Given the description of an element on the screen output the (x, y) to click on. 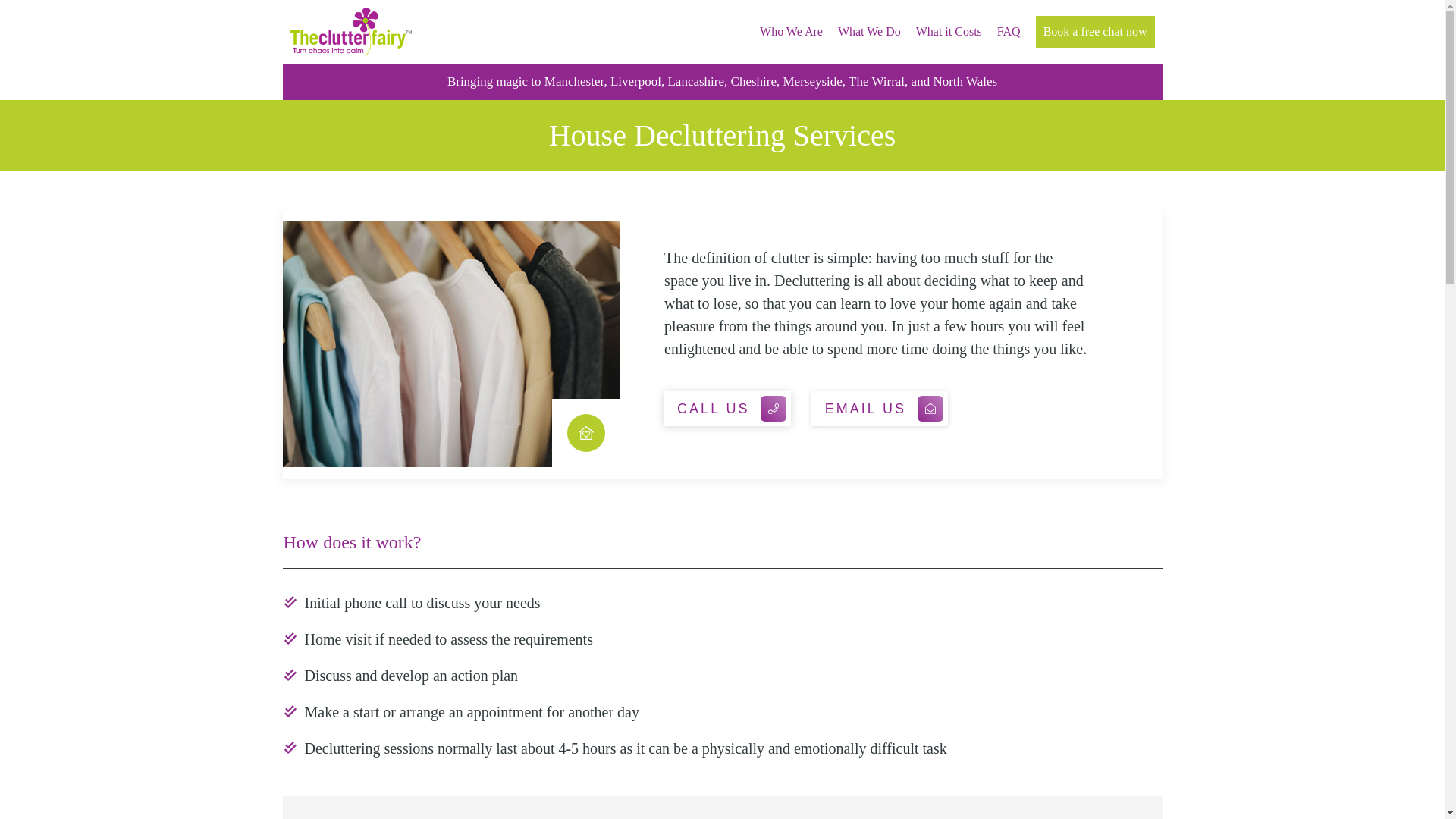
What We Do (869, 31)
What it Costs (948, 31)
Who We Are (791, 31)
Book a free chat now (1095, 31)
Reach Out Now (75, 19)
CALL US (726, 408)
EMAIL US (878, 408)
FAQ (1008, 31)
